Given the description of an element on the screen output the (x, y) to click on. 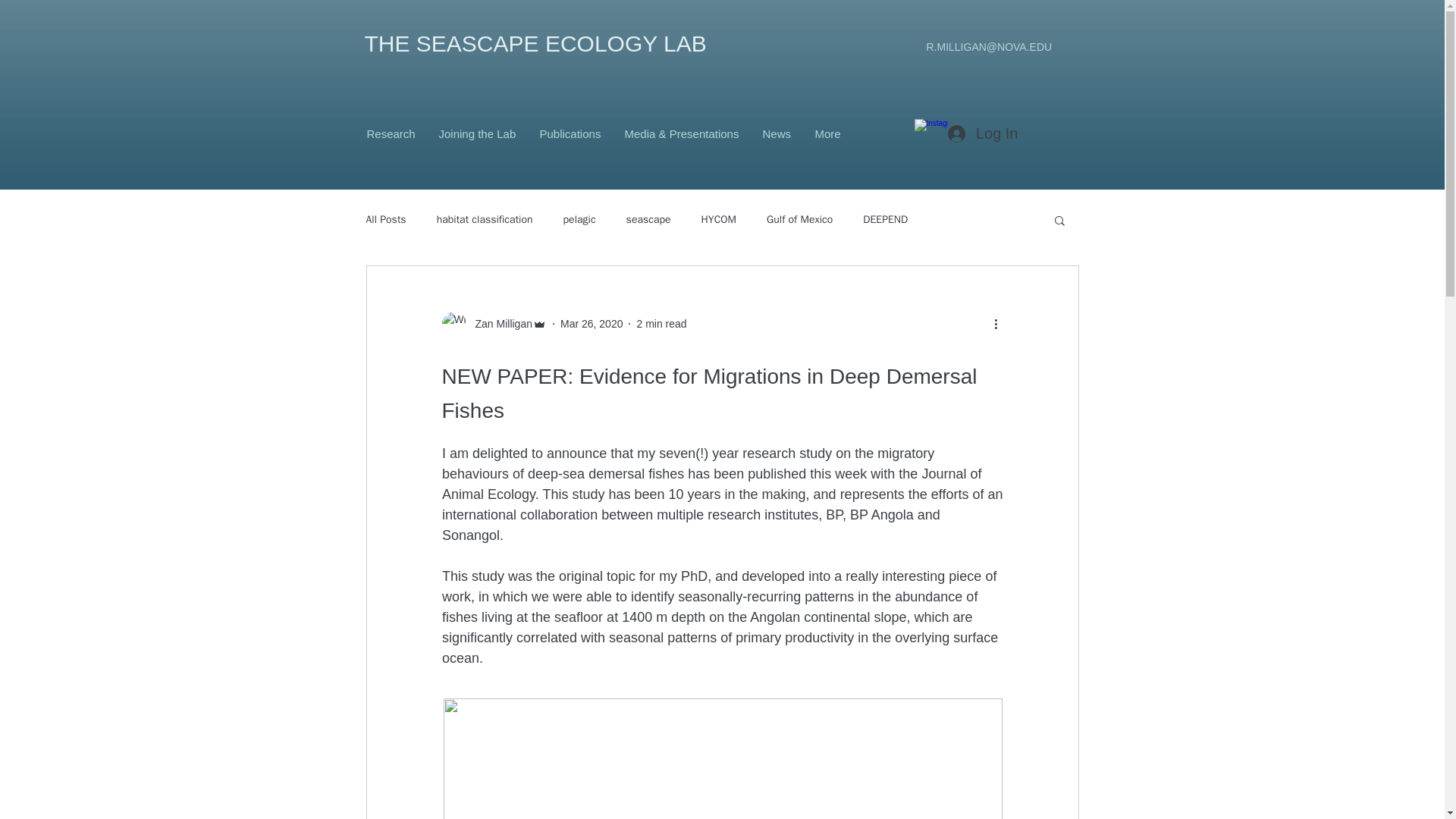
Zan Milligan (493, 323)
habitat classification (484, 219)
News (777, 133)
Research (390, 133)
Zan Milligan (498, 323)
DEEPEND (885, 219)
Mar 26, 2020 (591, 322)
seascape (648, 219)
Log In (983, 133)
2 min read (660, 322)
All Posts (385, 219)
pelagic (579, 219)
THE SEASCAPE ECOLOGY LAB (535, 43)
Publications (569, 133)
HYCOM (718, 219)
